Given the description of an element on the screen output the (x, y) to click on. 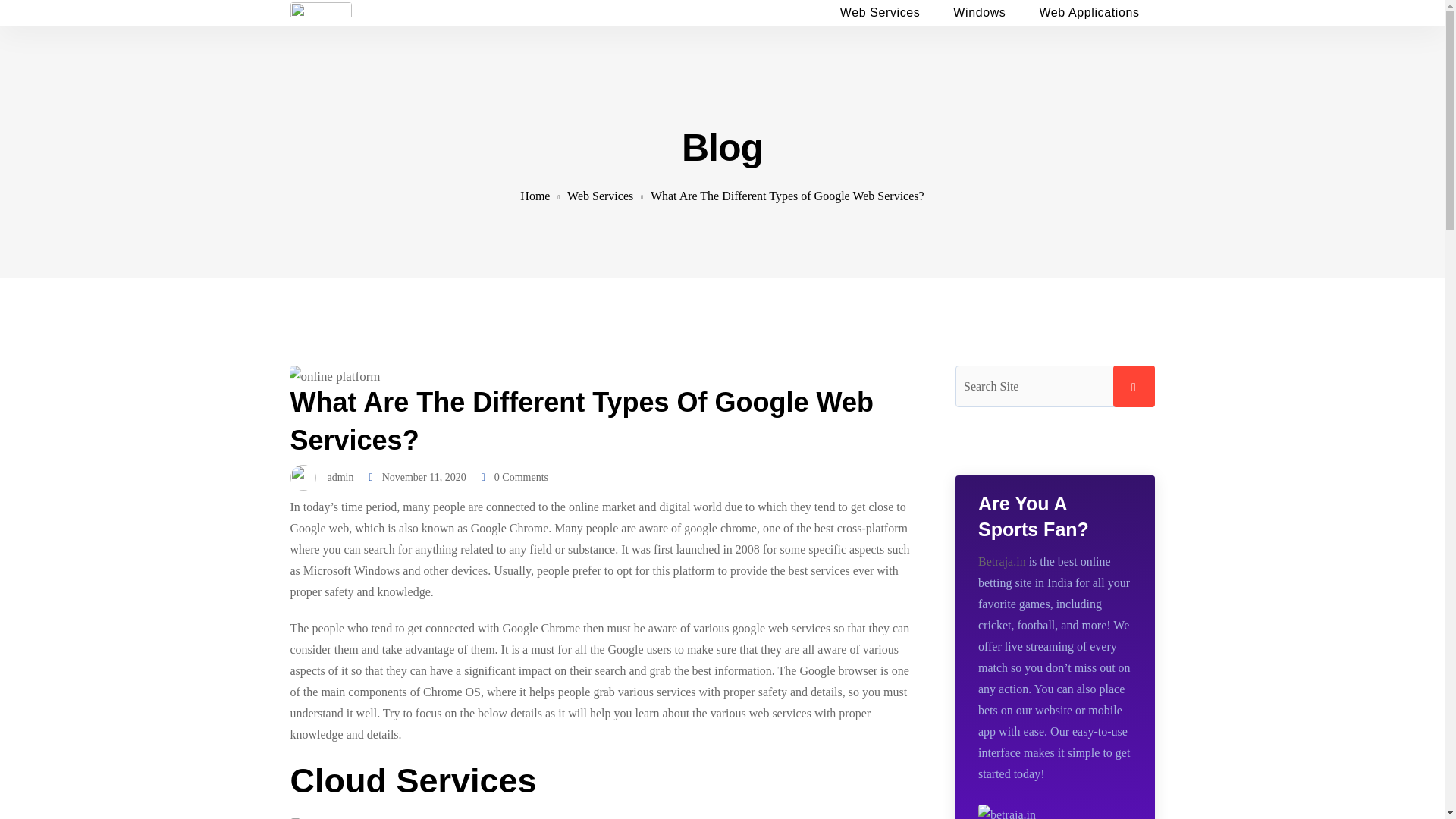
Web Services (880, 20)
Web Applications (1088, 20)
web services (779, 712)
What Are The Different Types Of Google Web Services? (580, 420)
Betraja.in (1002, 561)
Web Services (600, 195)
Search (1133, 386)
Windows (979, 20)
Home (534, 195)
